Given the description of an element on the screen output the (x, y) to click on. 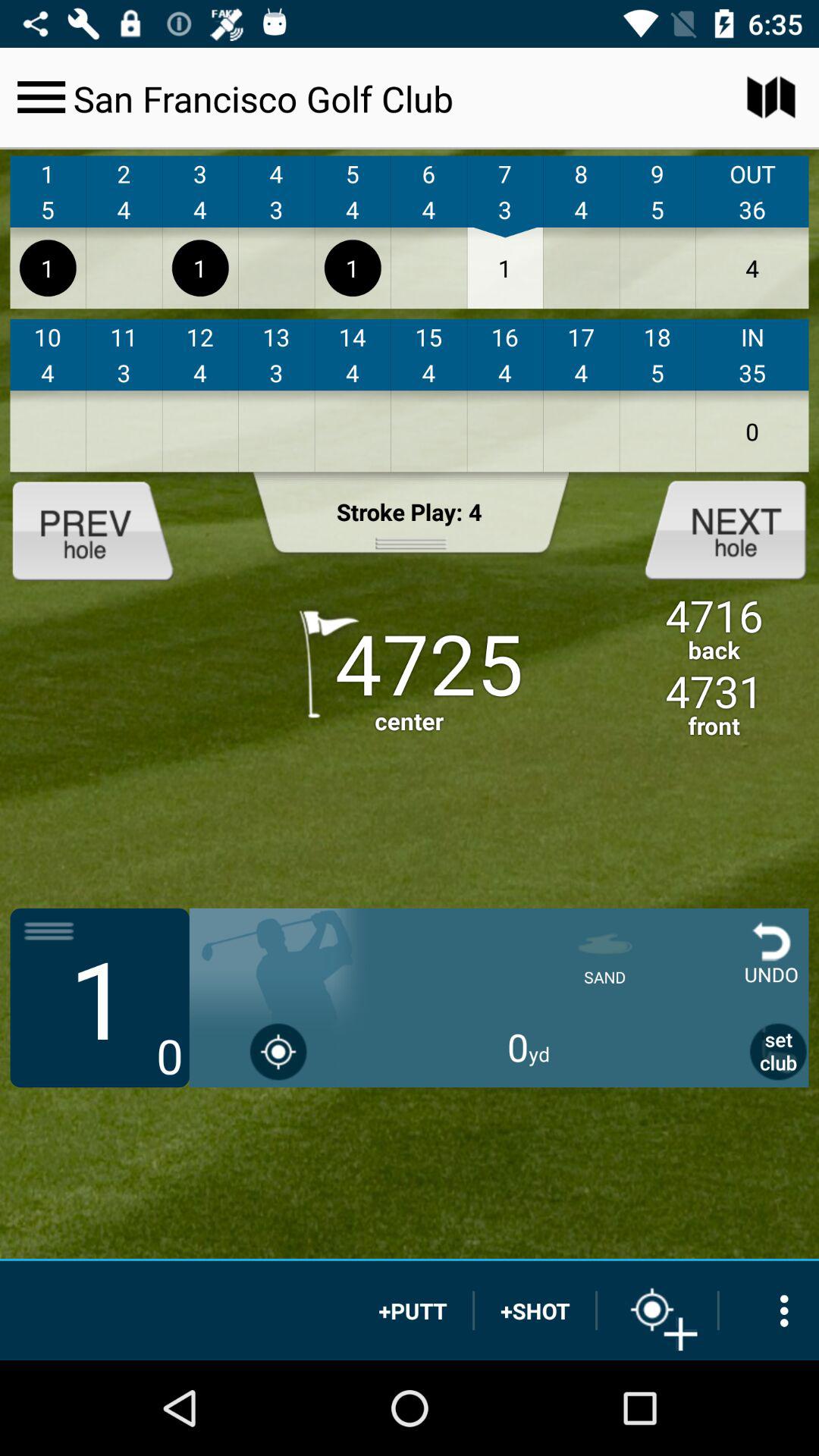
menu (41, 97)
